Given the description of an element on the screen output the (x, y) to click on. 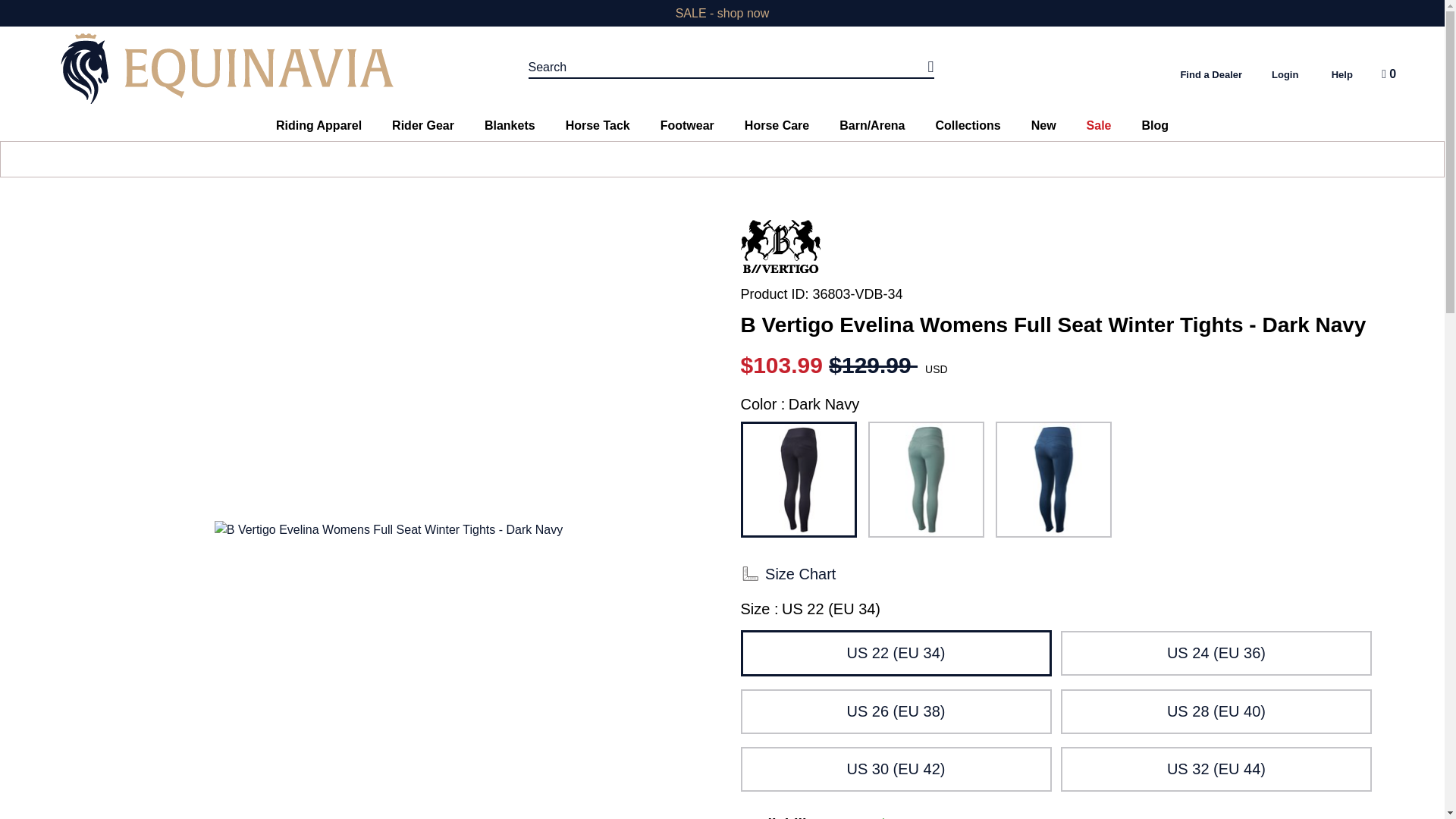
Help (1342, 74)
Find a Dealer (1210, 74)
Search (730, 67)
SALE - shop now (722, 12)
Login (1284, 74)
